Given the description of an element on the screen output the (x, y) to click on. 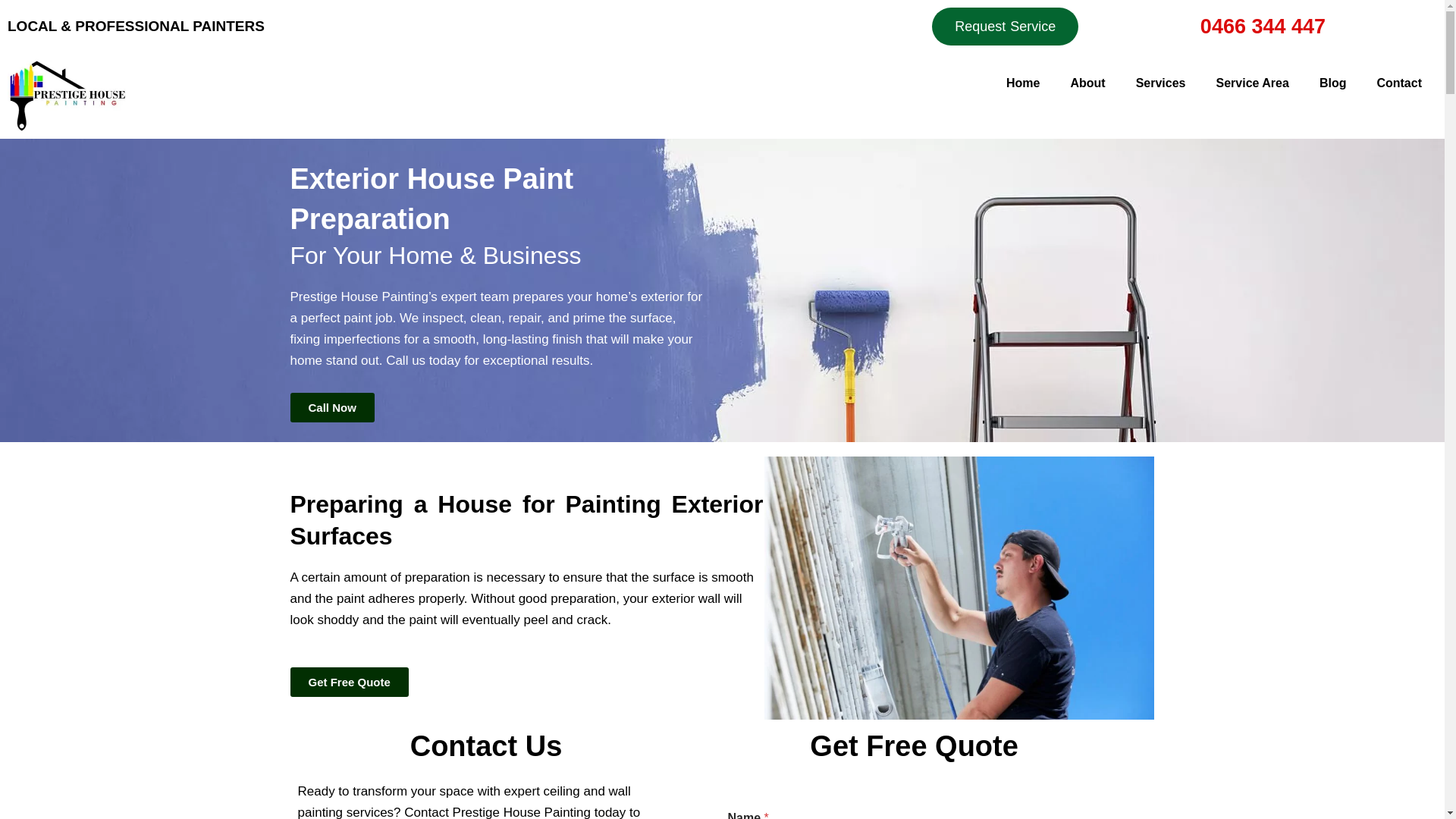
Home (1022, 83)
About (1086, 83)
Service Area (1252, 83)
Contact (1399, 83)
Blog (1332, 83)
0466 344 447 (1261, 26)
Request Service (1004, 26)
Services (1161, 83)
